Given the description of an element on the screen output the (x, y) to click on. 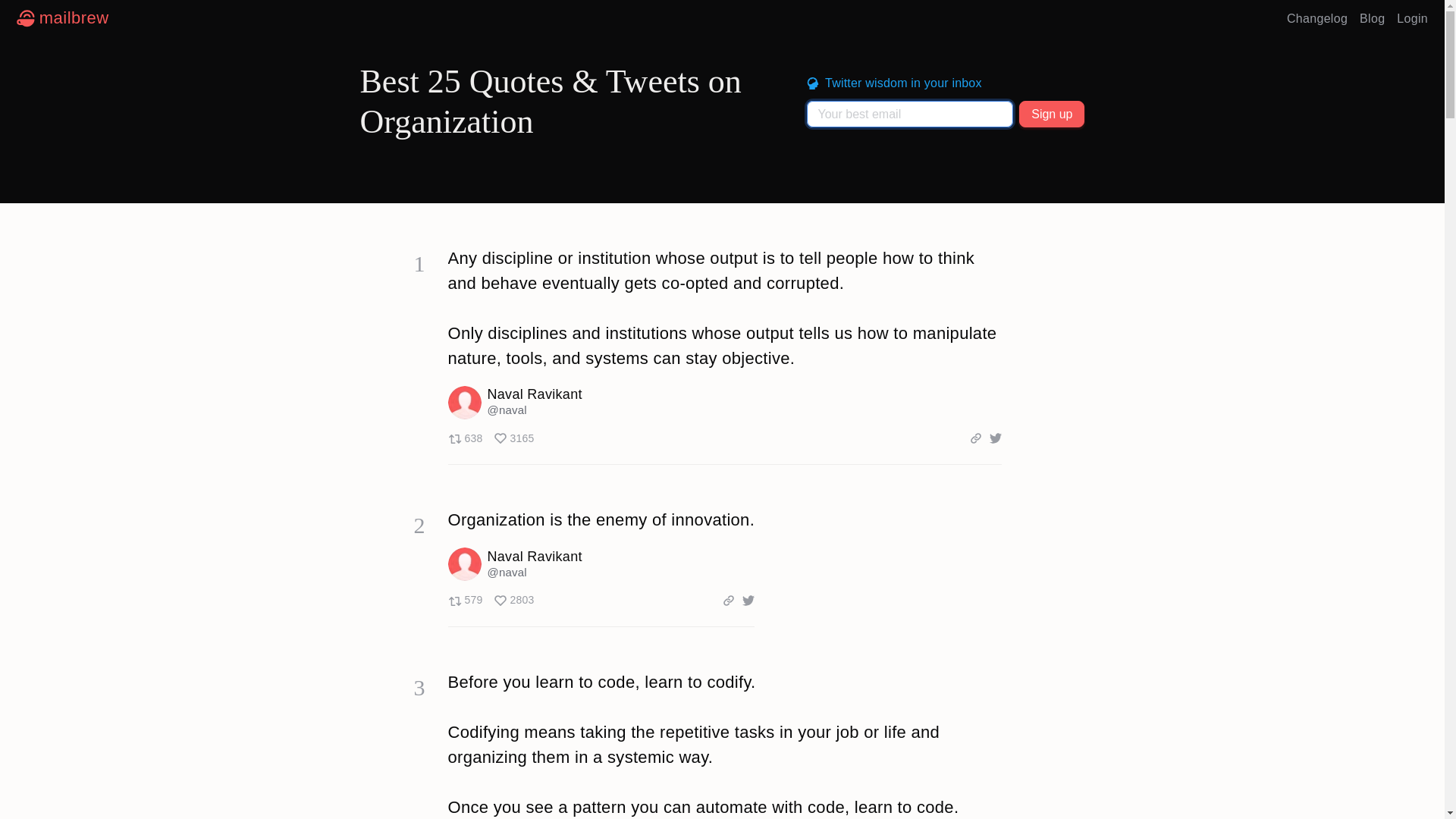
Login (1412, 18)
Sign up (1051, 113)
Blog (1371, 18)
mailbrew (490, 438)
Changelog (62, 18)
